Given the description of an element on the screen output the (x, y) to click on. 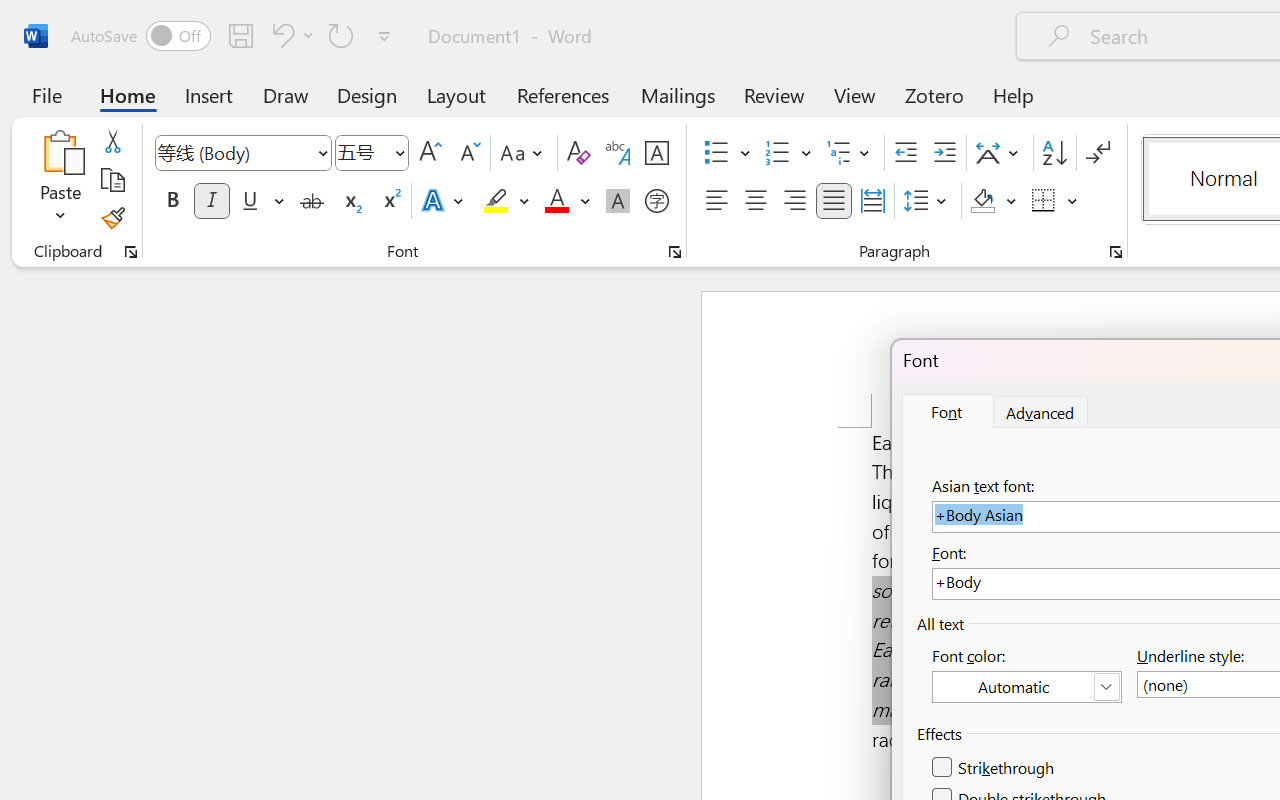
Multilevel List (850, 153)
Font Color Red (556, 201)
Asian Layout (1000, 153)
Strikethrough (994, 767)
Repeat Doc Close (341, 35)
Undo Italic (280, 35)
Line and Paragraph Spacing (927, 201)
Advanced (1041, 411)
Grow Font (430, 153)
Bold (172, 201)
